Given the description of an element on the screen output the (x, y) to click on. 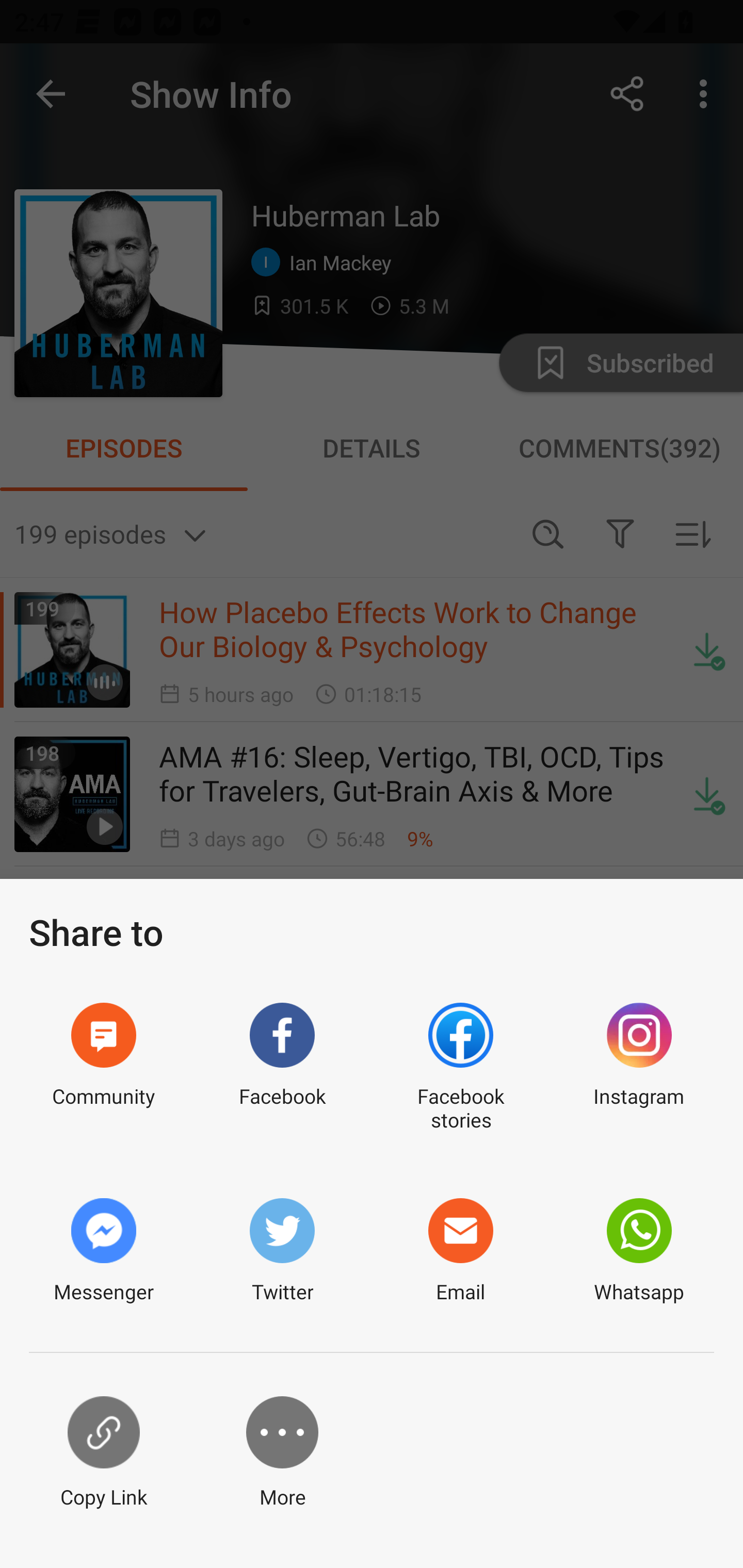
Community (103, 1067)
Facebook (282, 1067)
Facebook stories (460, 1067)
Instagram (638, 1067)
Messenger (103, 1251)
Twitter (282, 1251)
Email (460, 1251)
Whatsapp (638, 1251)
Copy Link (103, 1453)
More (282, 1453)
